Given the description of an element on the screen output the (x, y) to click on. 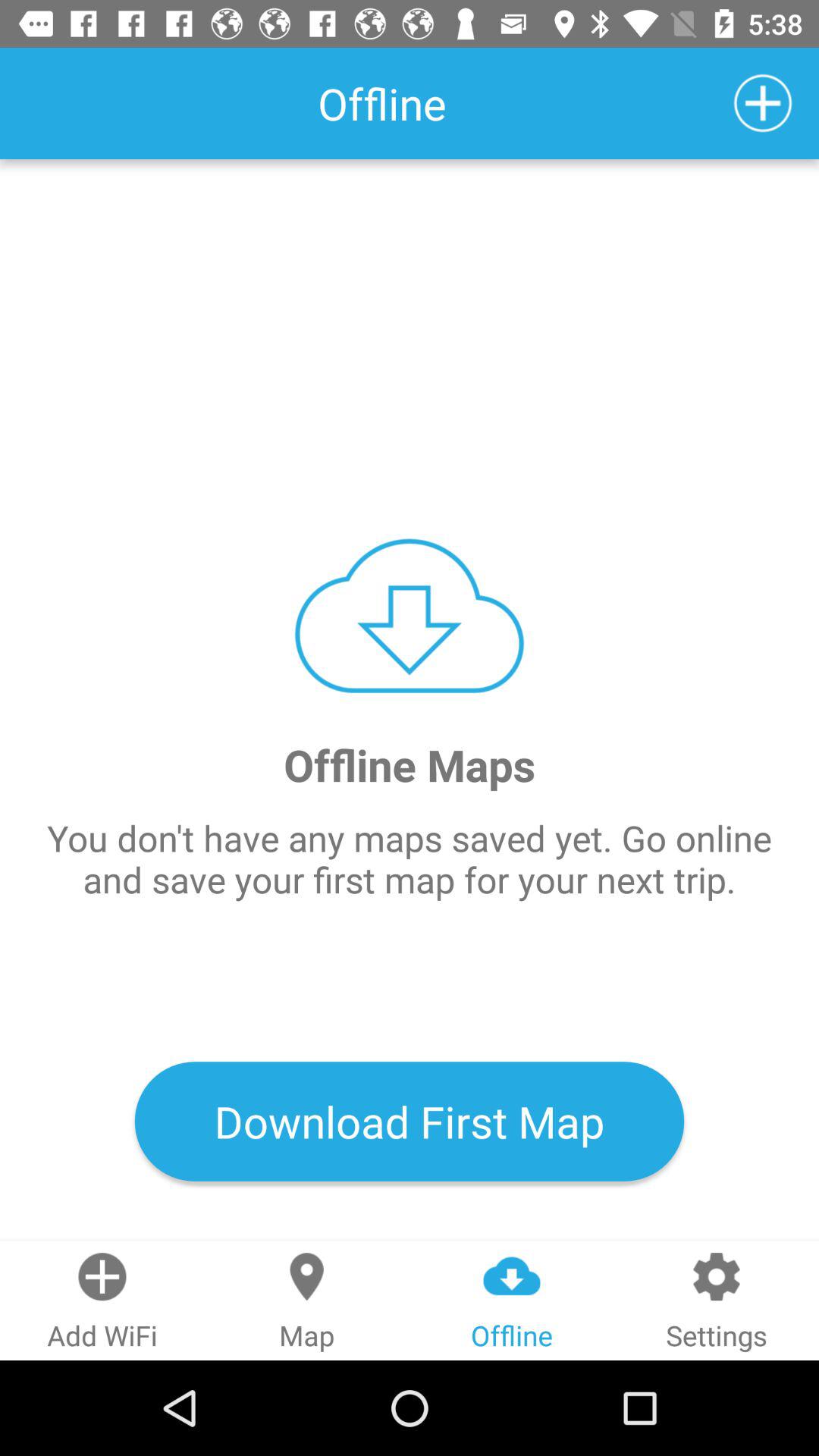
add new button (762, 103)
